Given the description of an element on the screen output the (x, y) to click on. 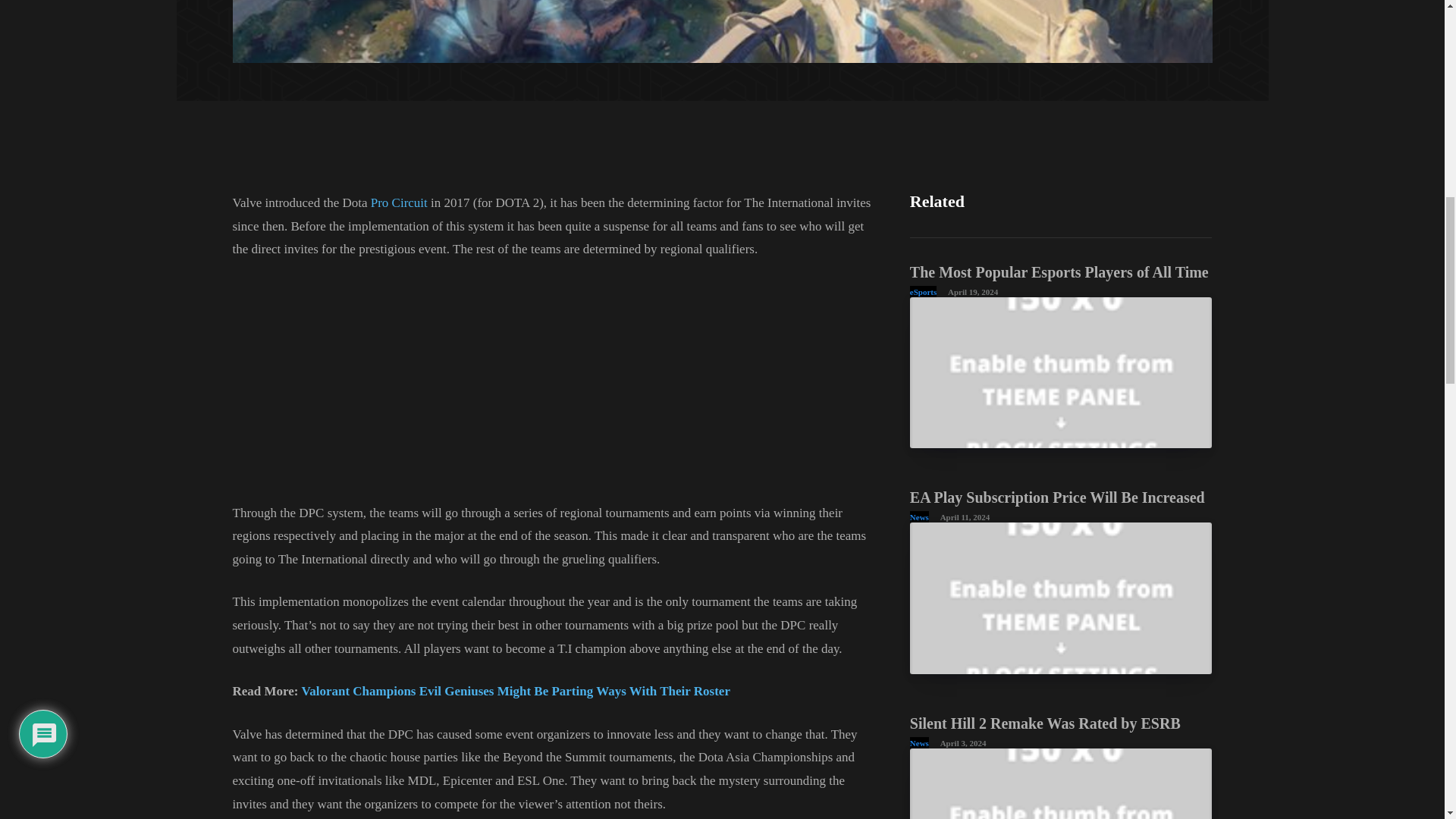
News (919, 742)
News (919, 516)
Silent Hill 2 Remake Was Rated by ESRB (1045, 723)
The Most Popular Esports Players of All Time (1059, 271)
Silent Hill 2 Remake Was Rated by ESRB (1061, 783)
Pro Circuit (399, 202)
The Most Popular Esports Players of All Time (1061, 372)
eSports (923, 291)
EA Play Subscription Price Will Be Increased (1057, 497)
EA Play Subscription Price Will Be Increased (1057, 497)
The Most Popular Esports Players of All Time (1059, 271)
EA Play Subscription Price Will Be Increased (1061, 597)
Silent Hill 2 Remake Was Rated by ESRB (1045, 723)
